Given the description of an element on the screen output the (x, y) to click on. 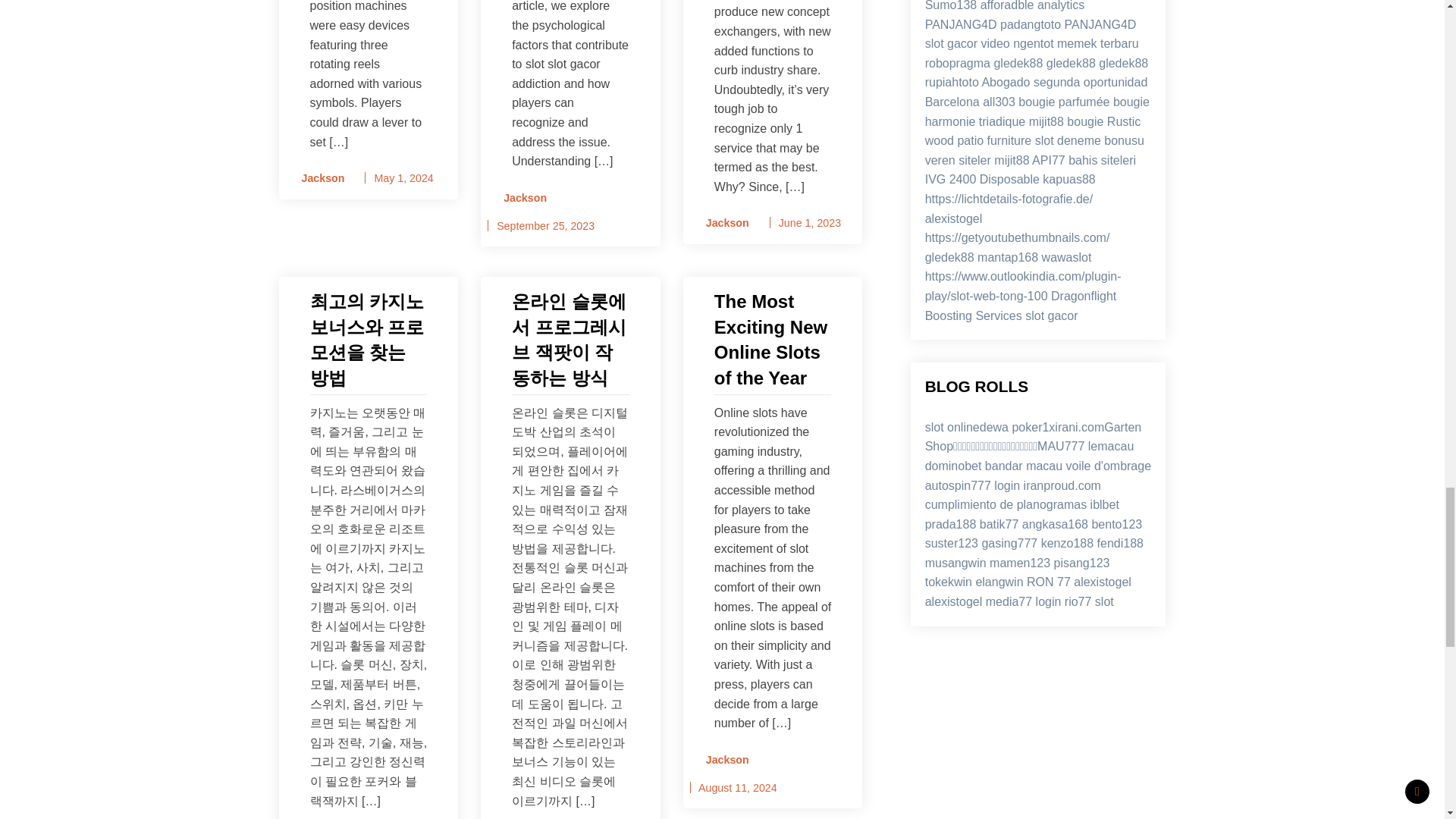
June 1, 2023 (809, 223)
Jackson (722, 222)
Jackson (520, 198)
August 11, 2024 (737, 787)
September 25, 2023 (545, 225)
Jackson (722, 760)
Jackson (318, 178)
May 1, 2024 (403, 177)
The Most Exciting New Online Slots of the Year (772, 339)
